Given the description of an element on the screen output the (x, y) to click on. 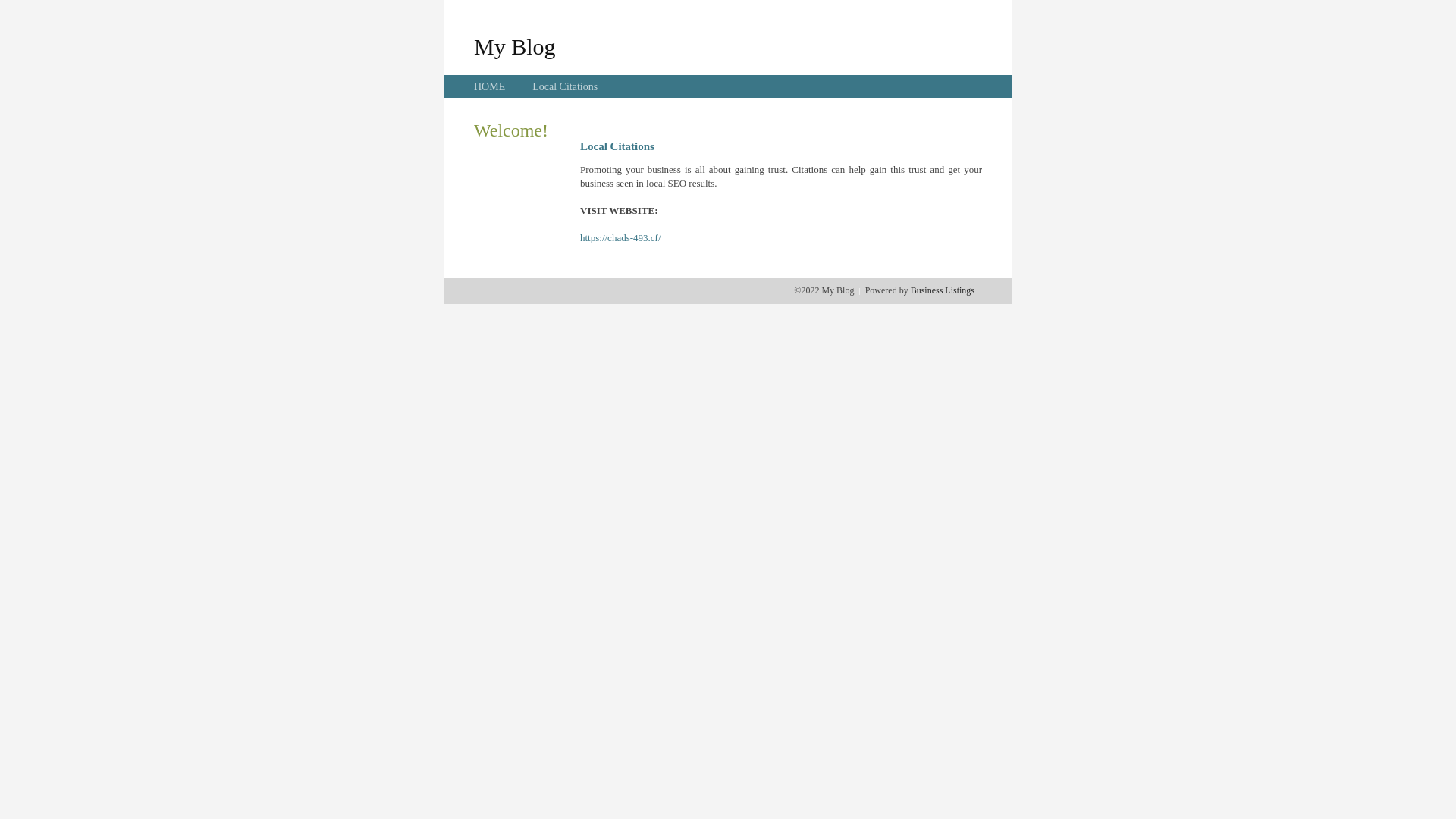
Local Citations Element type: text (564, 86)
https://chads-493.cf/ Element type: text (620, 237)
My Blog Element type: text (514, 46)
HOME Element type: text (489, 86)
Business Listings Element type: text (942, 290)
